Given the description of an element on the screen output the (x, y) to click on. 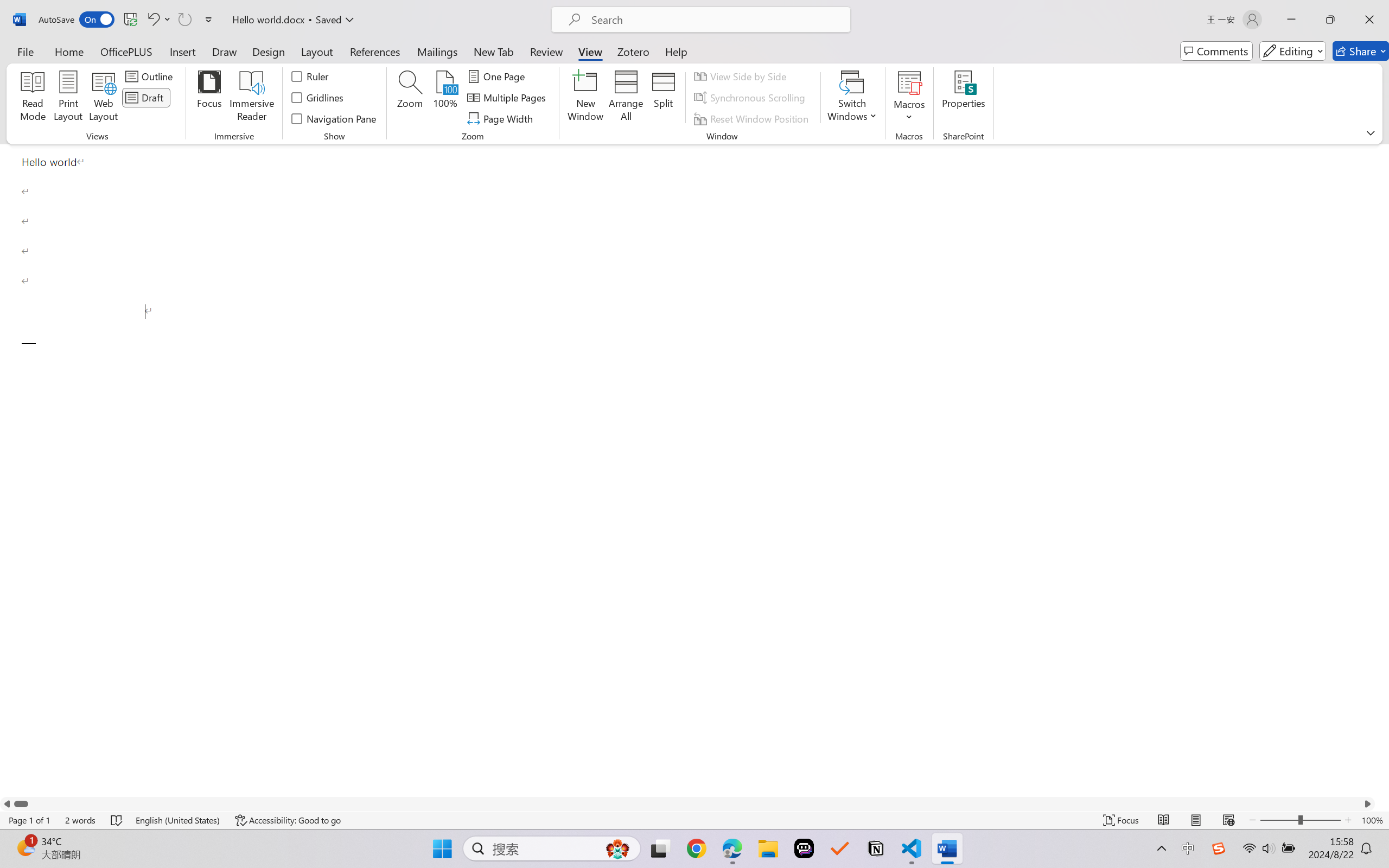
Home (69, 51)
Focus  (1121, 819)
Zoom (1300, 819)
Close (1369, 19)
One Page (497, 75)
More Options (909, 112)
Design (268, 51)
AutoSave (76, 19)
References (375, 51)
Split (663, 97)
Language English (United States) (178, 819)
100% (445, 97)
Immersive Reader (251, 97)
Microsoft search (715, 19)
